Given the description of an element on the screen output the (x, y) to click on. 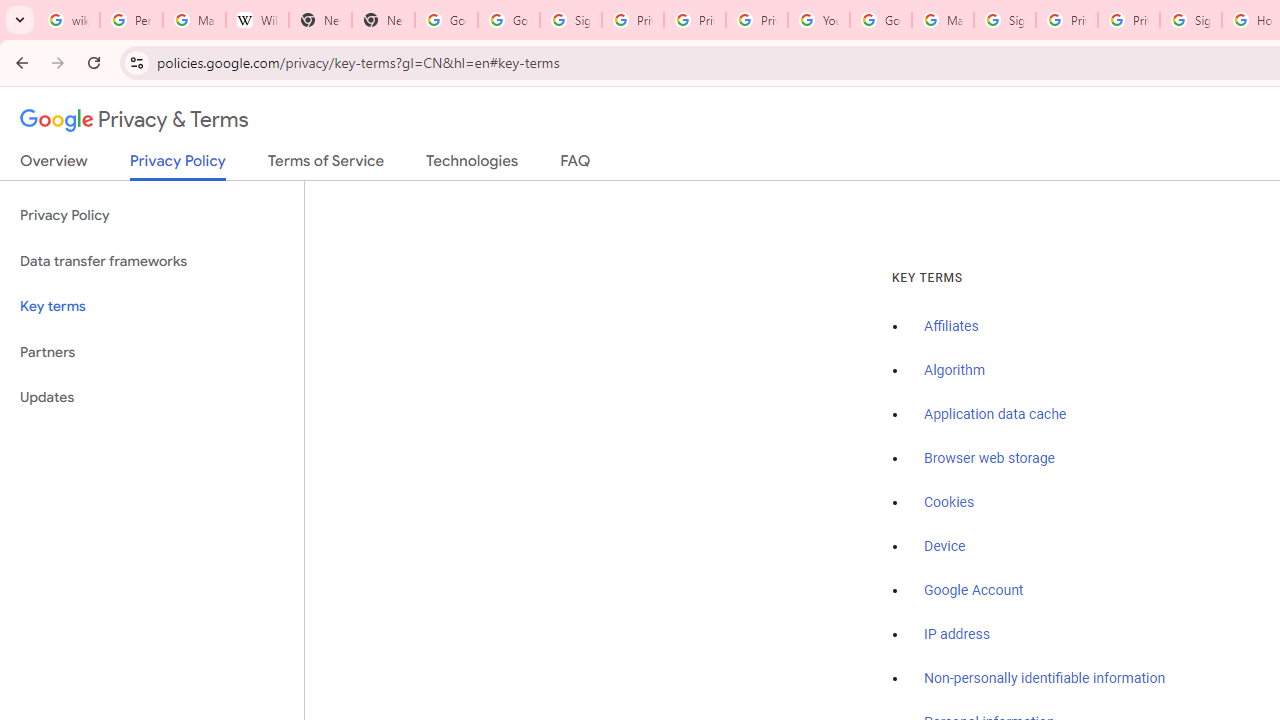
Wikipedia:Edit requests - Wikipedia (257, 20)
FAQ (575, 165)
Application data cache (995, 415)
Google Account Help (880, 20)
Terms of Service (326, 165)
Sign in - Google Accounts (570, 20)
New Tab (383, 20)
Partners (152, 352)
Personalization & Google Search results - Google Search Help (130, 20)
